Given the description of an element on the screen output the (x, y) to click on. 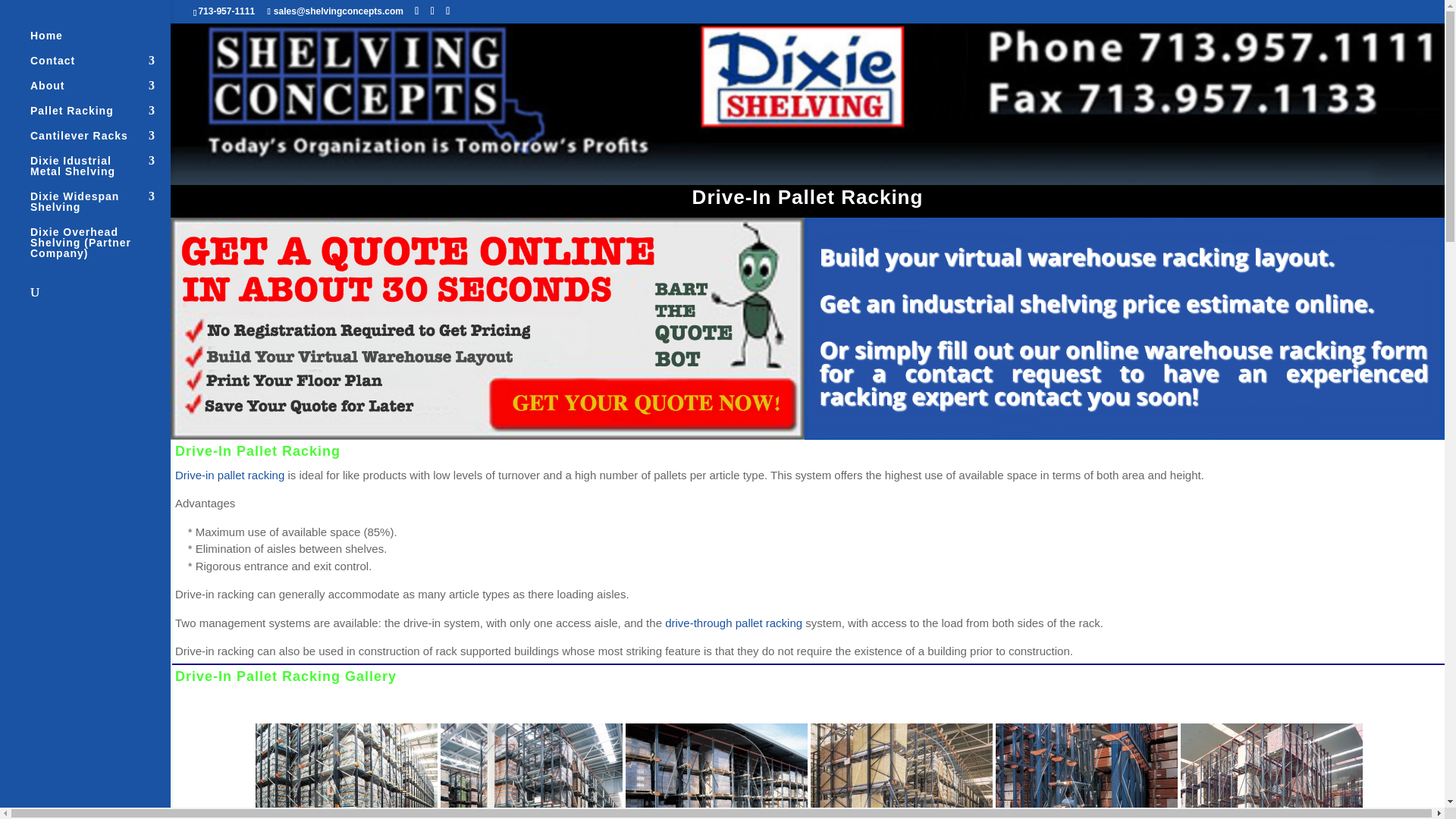
12 (347, 771)
9 (901, 771)
Pallet Racking (100, 117)
Dixie Idustrial Metal Shelving (100, 172)
8 (1086, 771)
11 (532, 771)
Contact (100, 67)
10 (717, 771)
About (100, 92)
Dixie Widespan Shelving (100, 208)
Cantilever Racks (100, 142)
7 (1271, 771)
Home (100, 42)
